Given the description of an element on the screen output the (x, y) to click on. 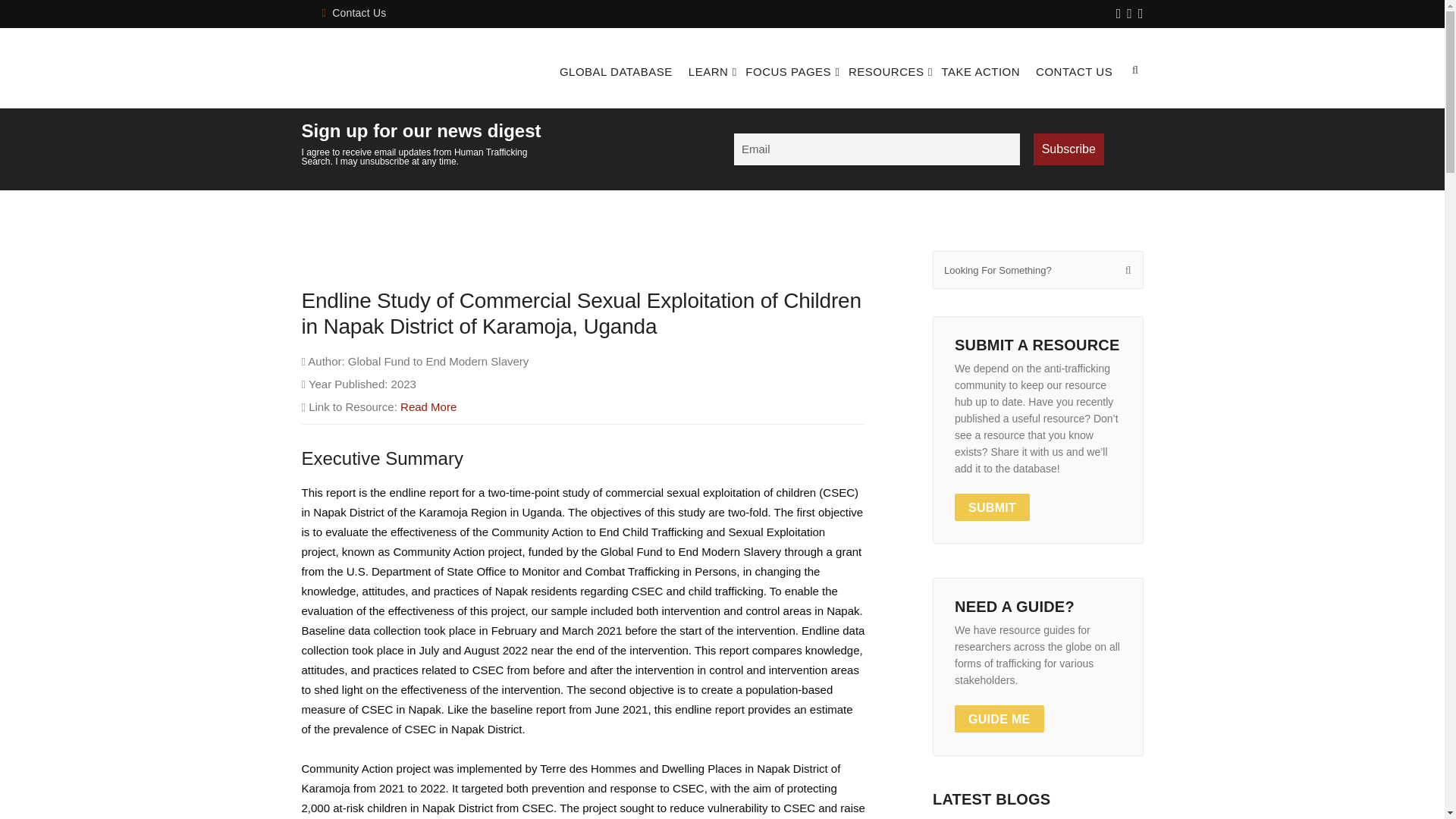
FOCUS PAGES (788, 71)
GLOBAL DATABASE (616, 71)
Subscribe (1067, 149)
Contact Us (353, 12)
